Given the description of an element on the screen output the (x, y) to click on. 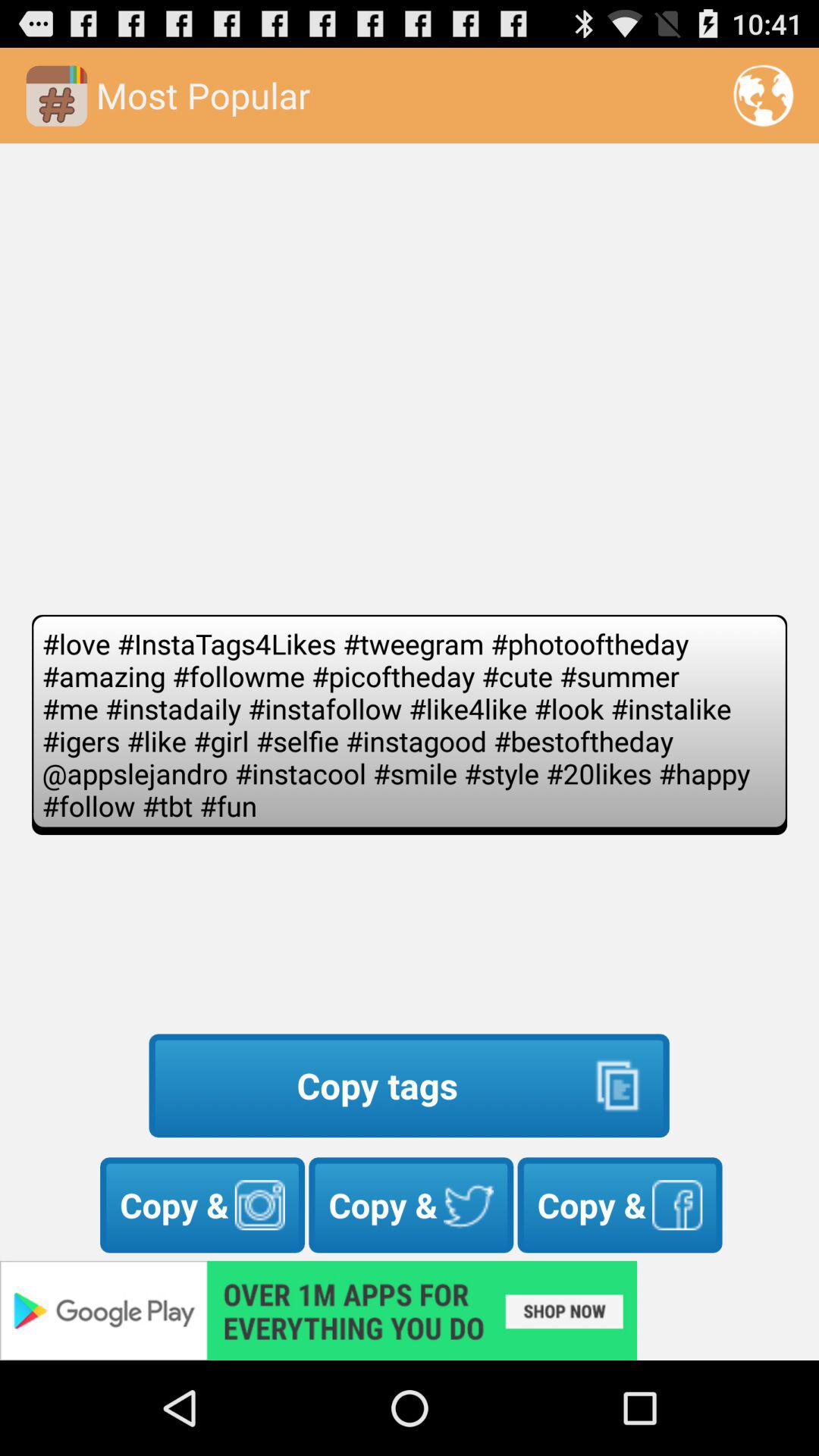
learn about this product (409, 1310)
